Given the description of an element on the screen output the (x, y) to click on. 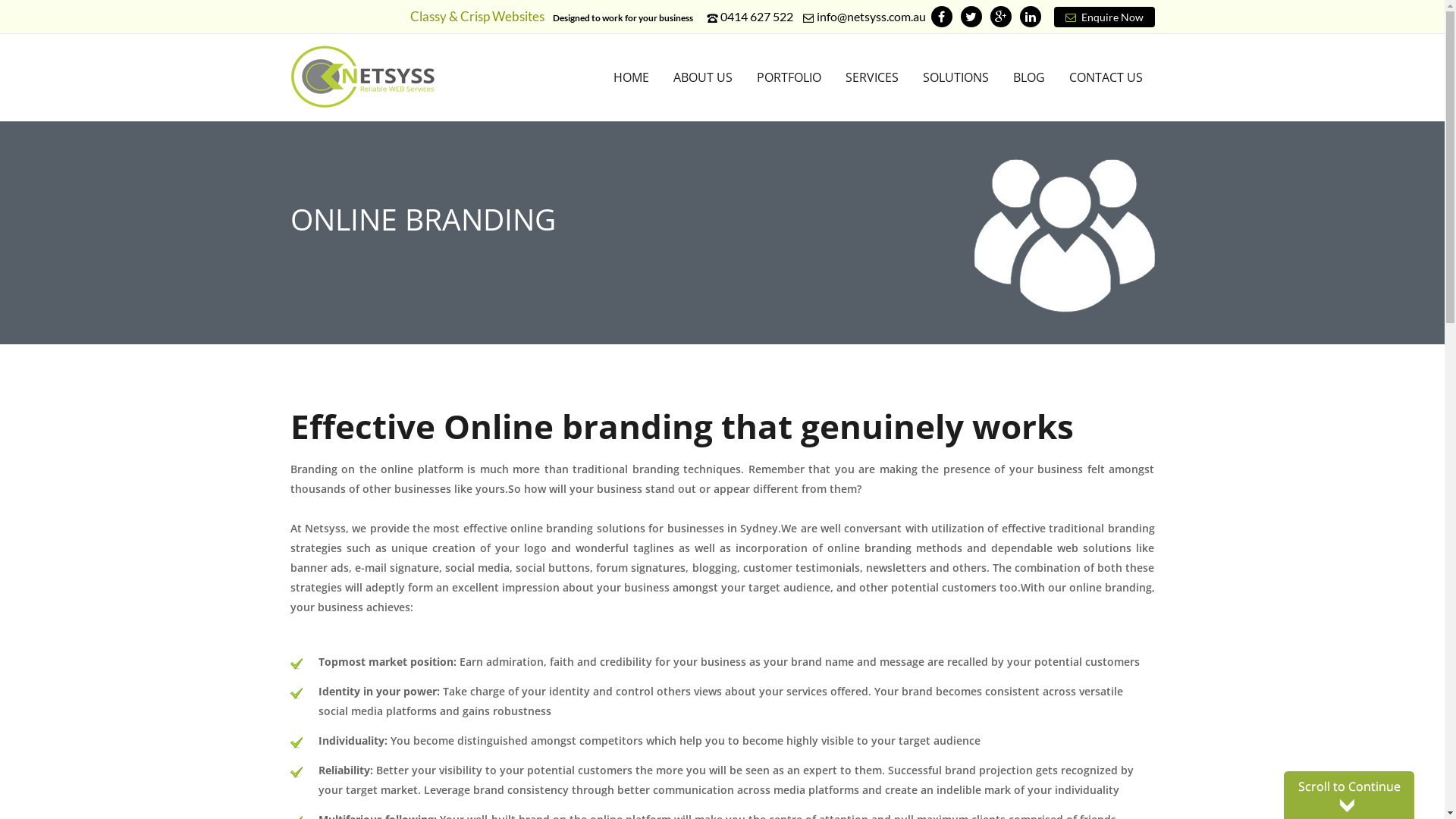
SERVICES Element type: text (871, 76)
ABOUT US Element type: text (702, 76)
BLOG Element type: text (1029, 76)
CONTACT US Element type: text (1105, 76)
SOLUTIONS Element type: text (955, 76)
info@netsyss.com.au Element type: text (870, 16)
PORTFOLIO Element type: text (788, 76)
HOME Element type: text (630, 76)
Enquire Now Element type: text (1104, 16)
